Given the description of an element on the screen output the (x, y) to click on. 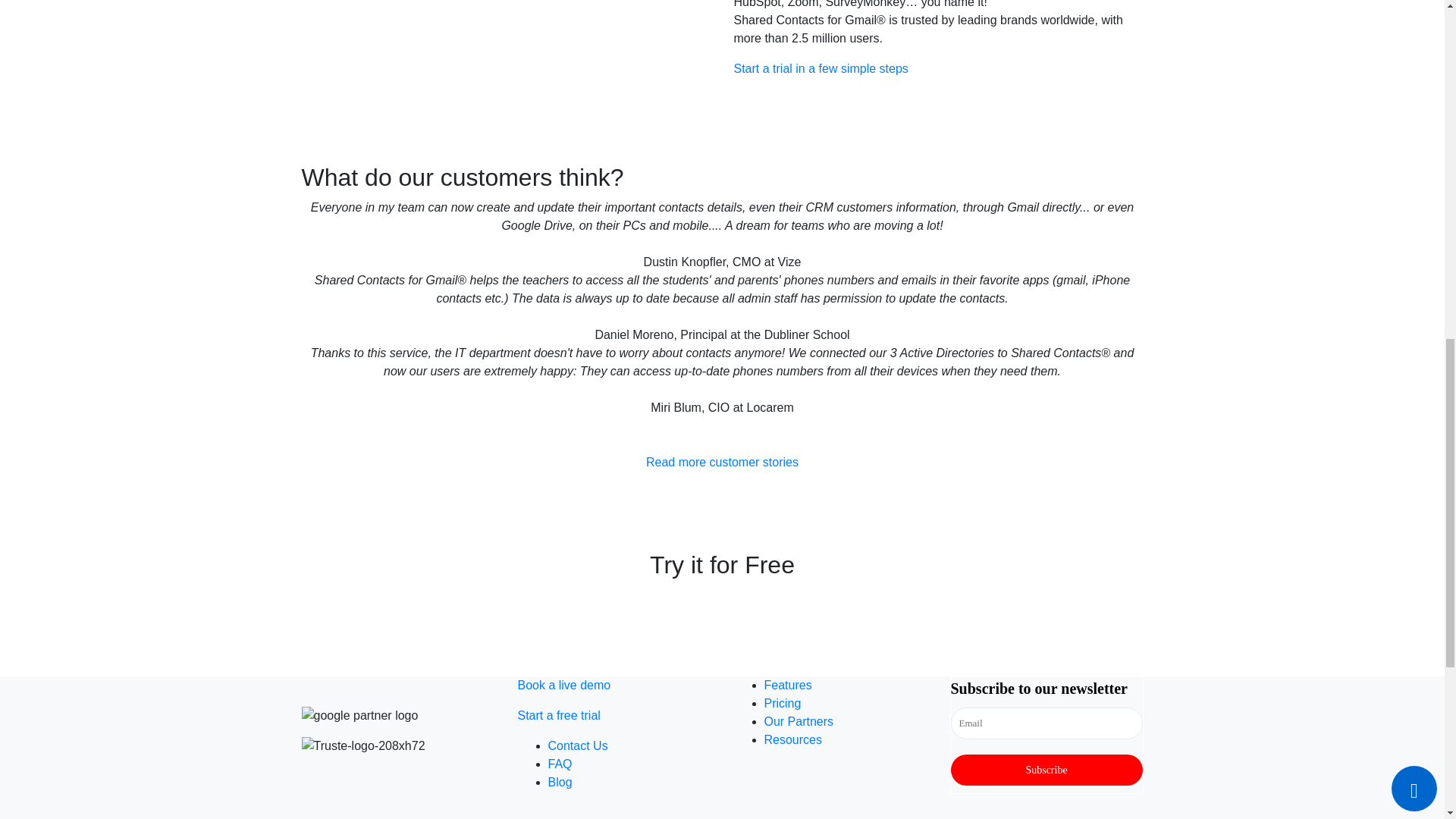
Blog (559, 781)
Read more customer stories (721, 461)
Book a live demo (563, 684)
Features (788, 684)
Our Partners (799, 721)
Start a trial in a few simple steps (820, 68)
FAQ (559, 763)
Subscribe (1046, 769)
Start a free trial (557, 715)
Contact Us (577, 745)
Resources (793, 739)
Pricing (783, 703)
